Given the description of an element on the screen output the (x, y) to click on. 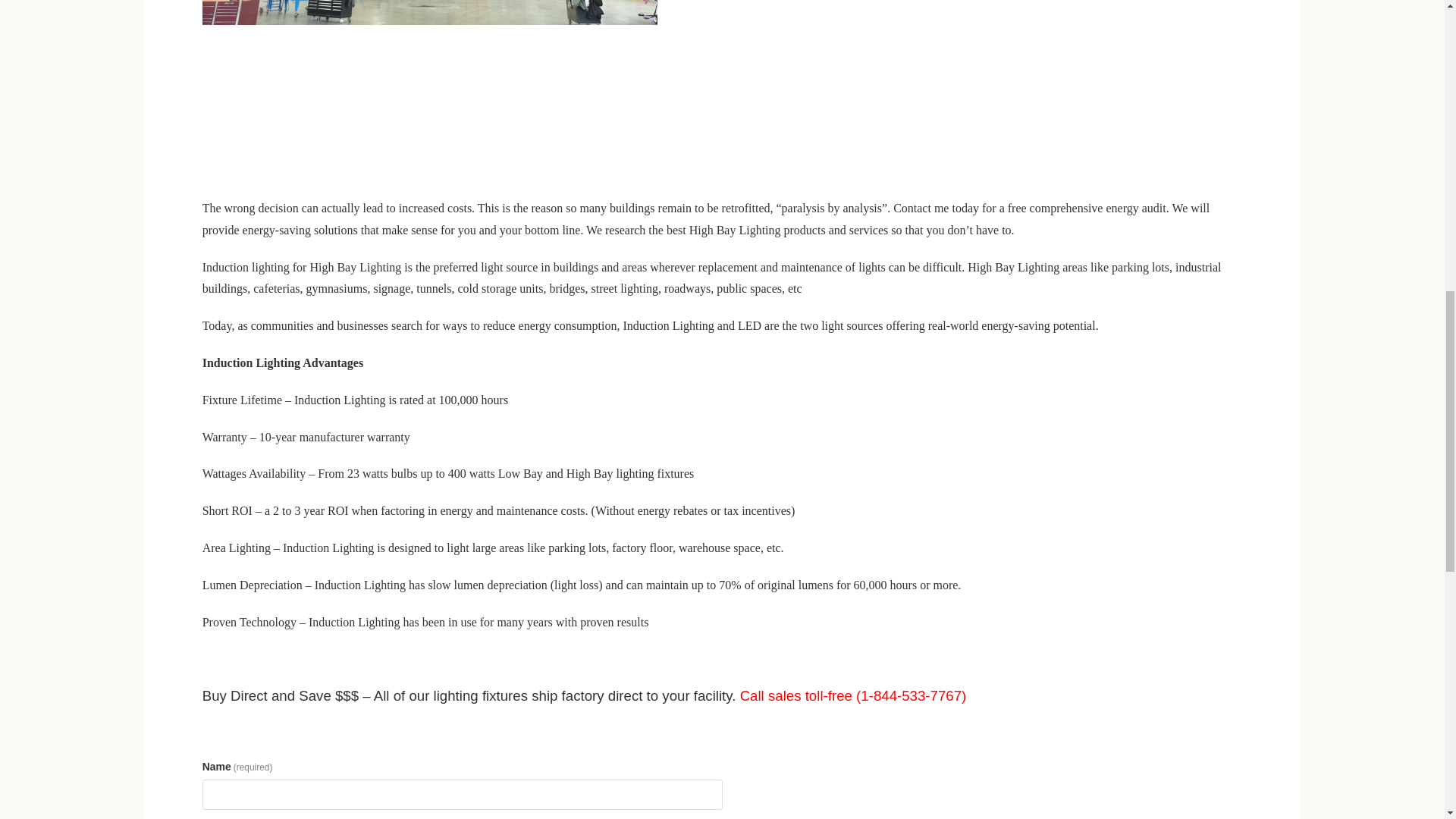
Induction High Bay Lighting (430, 12)
